Given the description of an element on the screen output the (x, y) to click on. 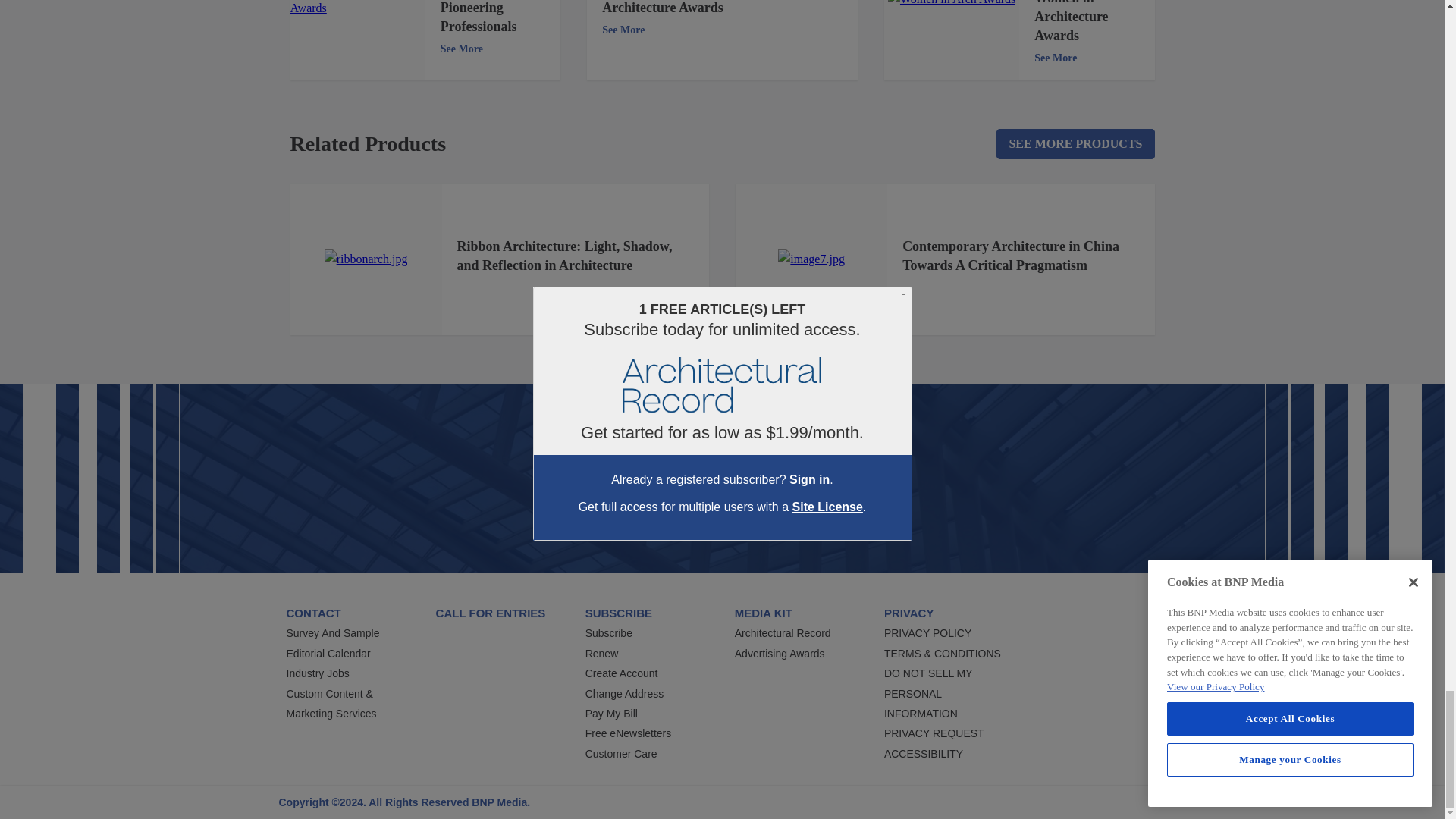
ribbonarch.jpg (365, 259)
